Given the description of an element on the screen output the (x, y) to click on. 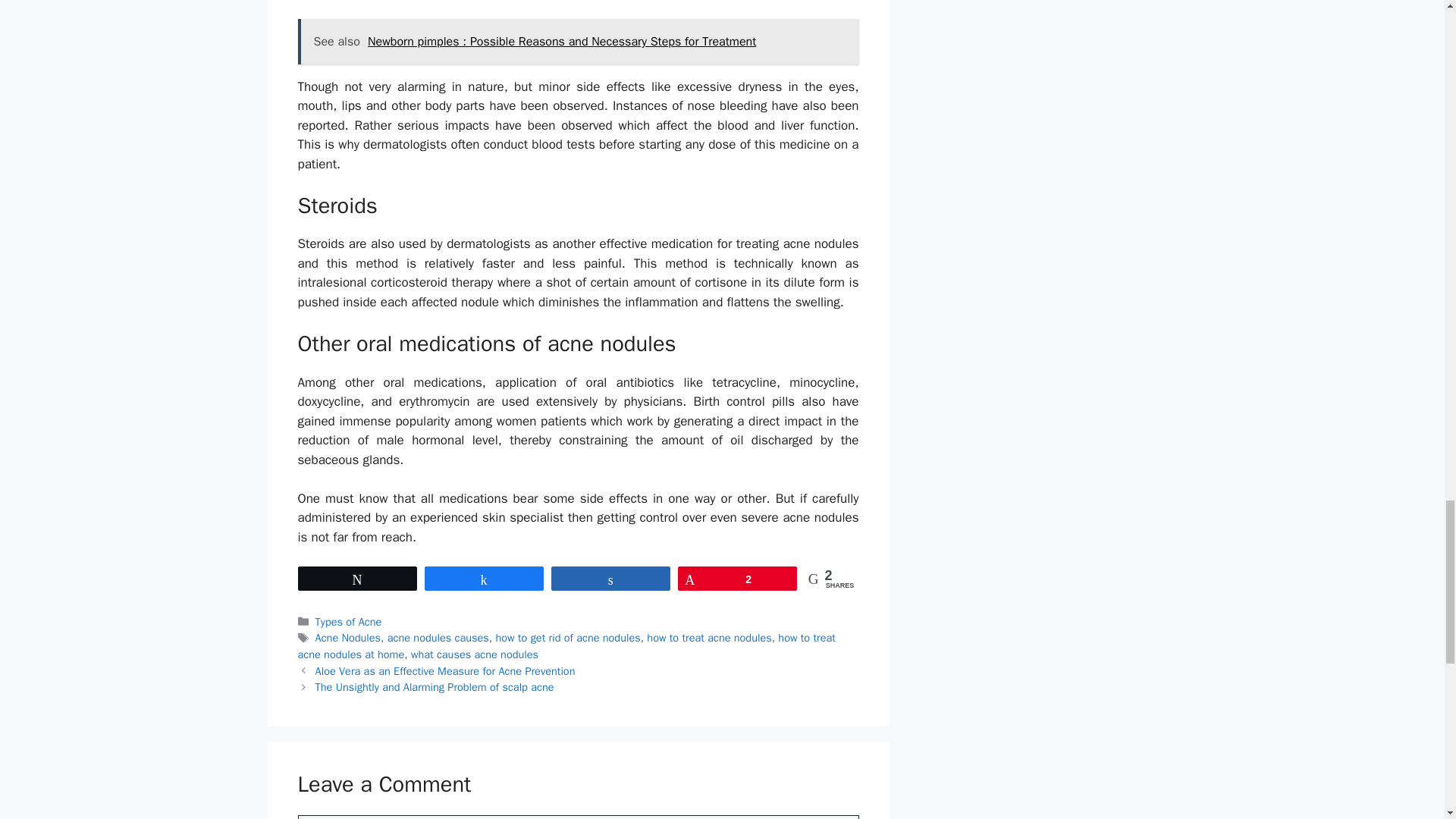
Types of Acne (348, 621)
how to treat acne nodules at home (565, 645)
how to get rid of acne nodules (568, 637)
2 (737, 578)
The Unsightly and Alarming Problem of scalp acne (434, 686)
what causes acne nodules (474, 653)
Aloe Vera as an Effective Measure for Acne Prevention (445, 671)
acne nodules causes (438, 637)
Acne Nodules (348, 637)
